Given the description of an element on the screen output the (x, y) to click on. 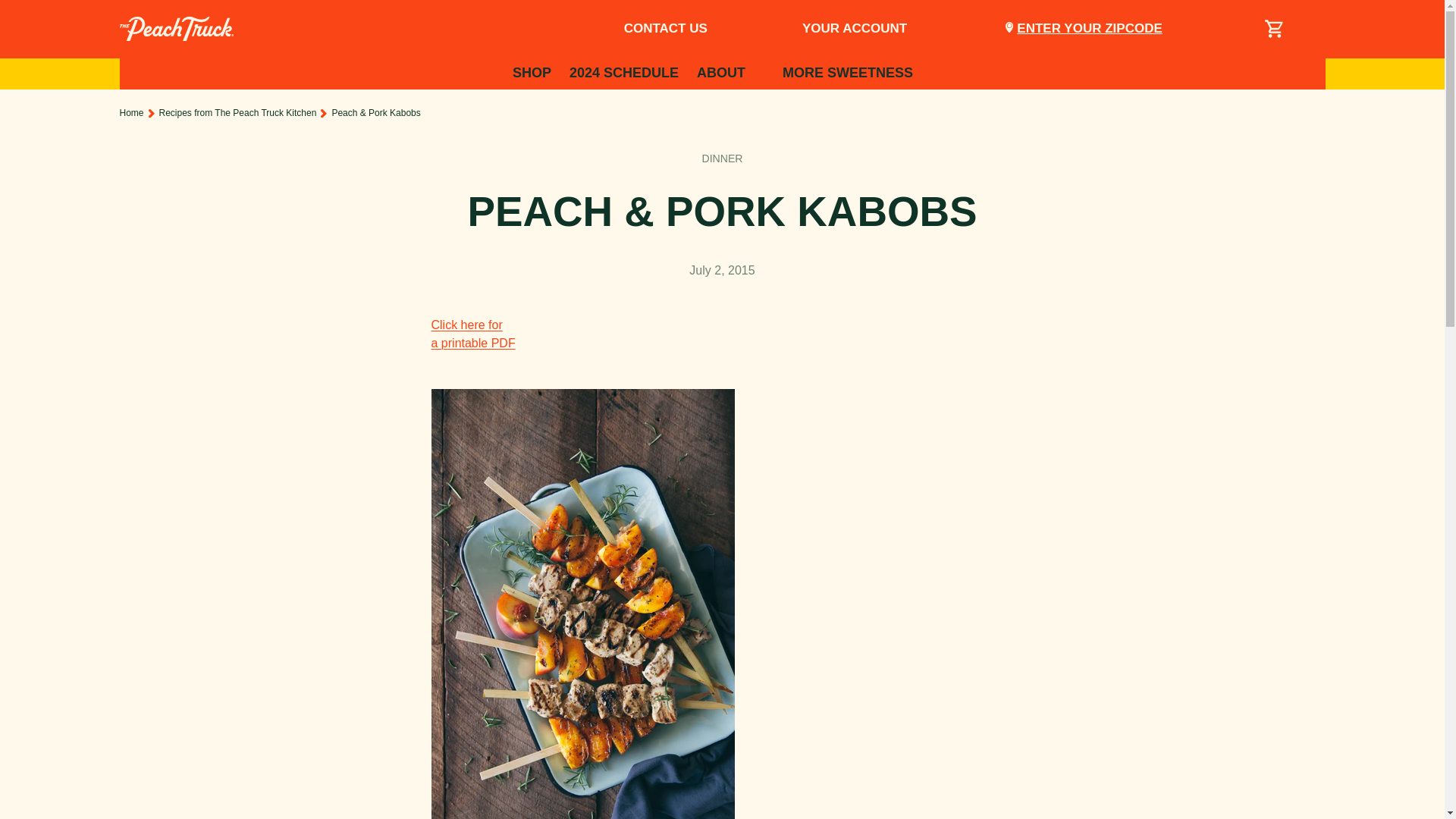
2024 SCHEDULE (623, 73)
Cart (1274, 28)
CONTACT US (665, 28)
Recipes from The Peach Truck Kitchen (237, 112)
MORE SWEETNESS (472, 333)
YOUR ACCOUNT (857, 73)
SHOP (854, 28)
SKIP TO CONTENT (531, 73)
ABOUT (79, 27)
DINNER (730, 73)
Home (721, 158)
